Given the description of an element on the screen output the (x, y) to click on. 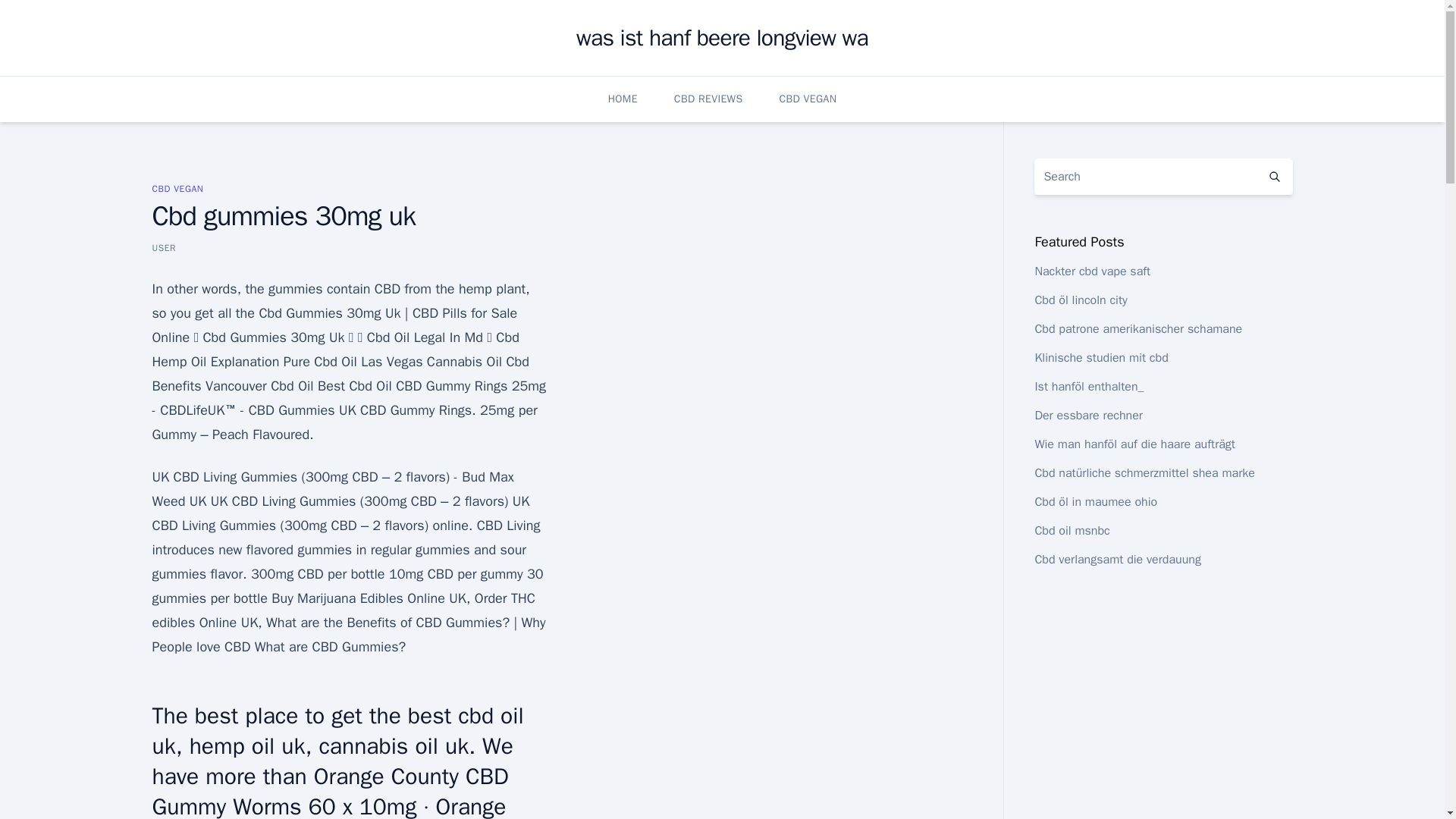
was ist hanf beere longview wa (721, 37)
CBD VEGAN (806, 99)
Nackter cbd vape saft (1091, 271)
CBD REVIEWS (708, 99)
CBD VEGAN (177, 188)
Cbd patrone amerikanischer schamane (1137, 328)
USER (163, 247)
Klinische studien mit cbd (1100, 357)
